Given the description of an element on the screen output the (x, y) to click on. 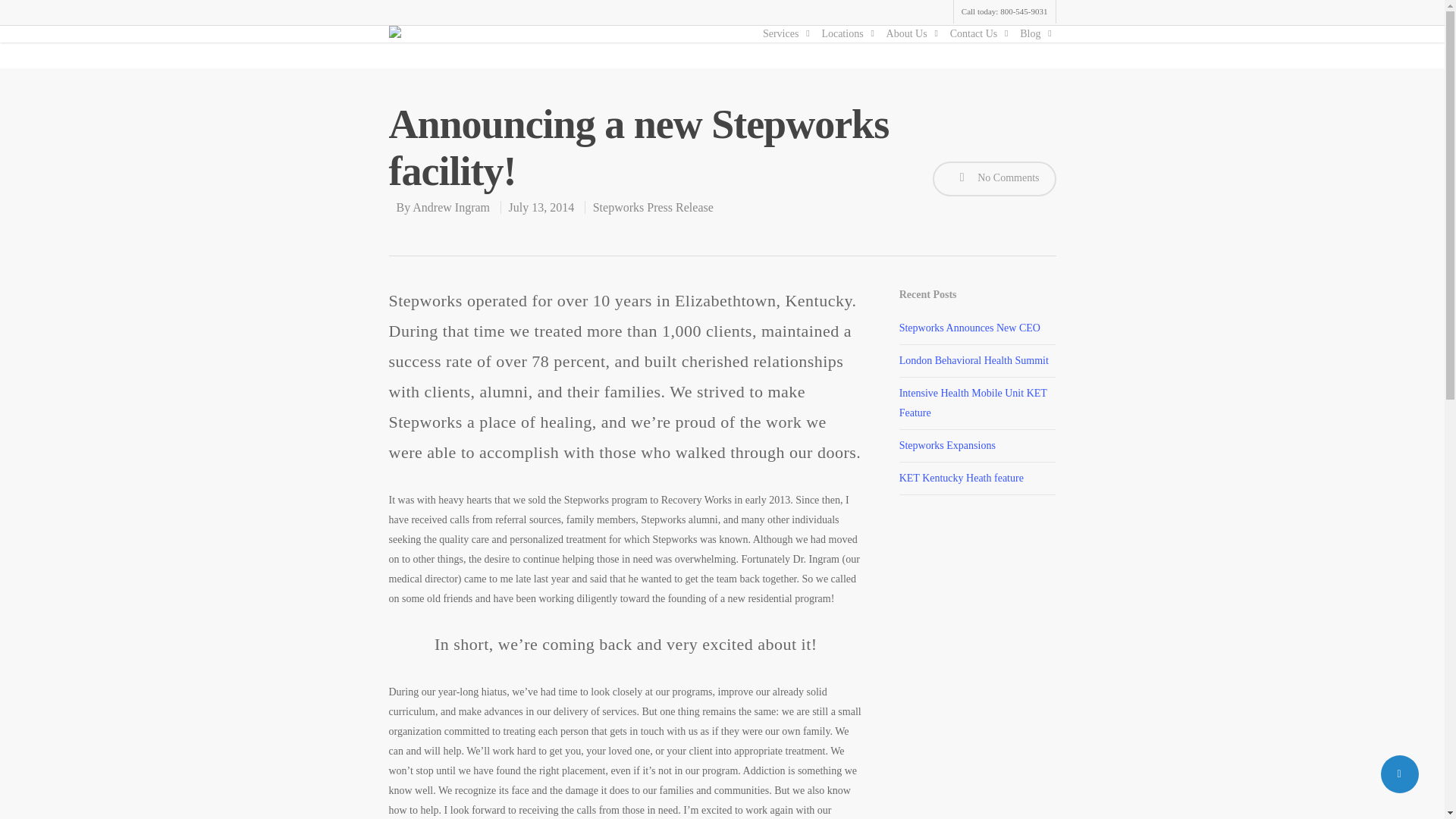
Stepworks Expansions (947, 445)
Locations (845, 33)
Stepworks Announces New CEO (970, 327)
Posts by Andrew Ingram (450, 206)
Intensive Health Mobile Unit KET Feature (972, 402)
No Comments (995, 178)
About Us (910, 33)
Services (784, 33)
Call today: 800-545-9031 (1004, 11)
London Behavioral Health Summit (973, 360)
